Given the description of an element on the screen output the (x, y) to click on. 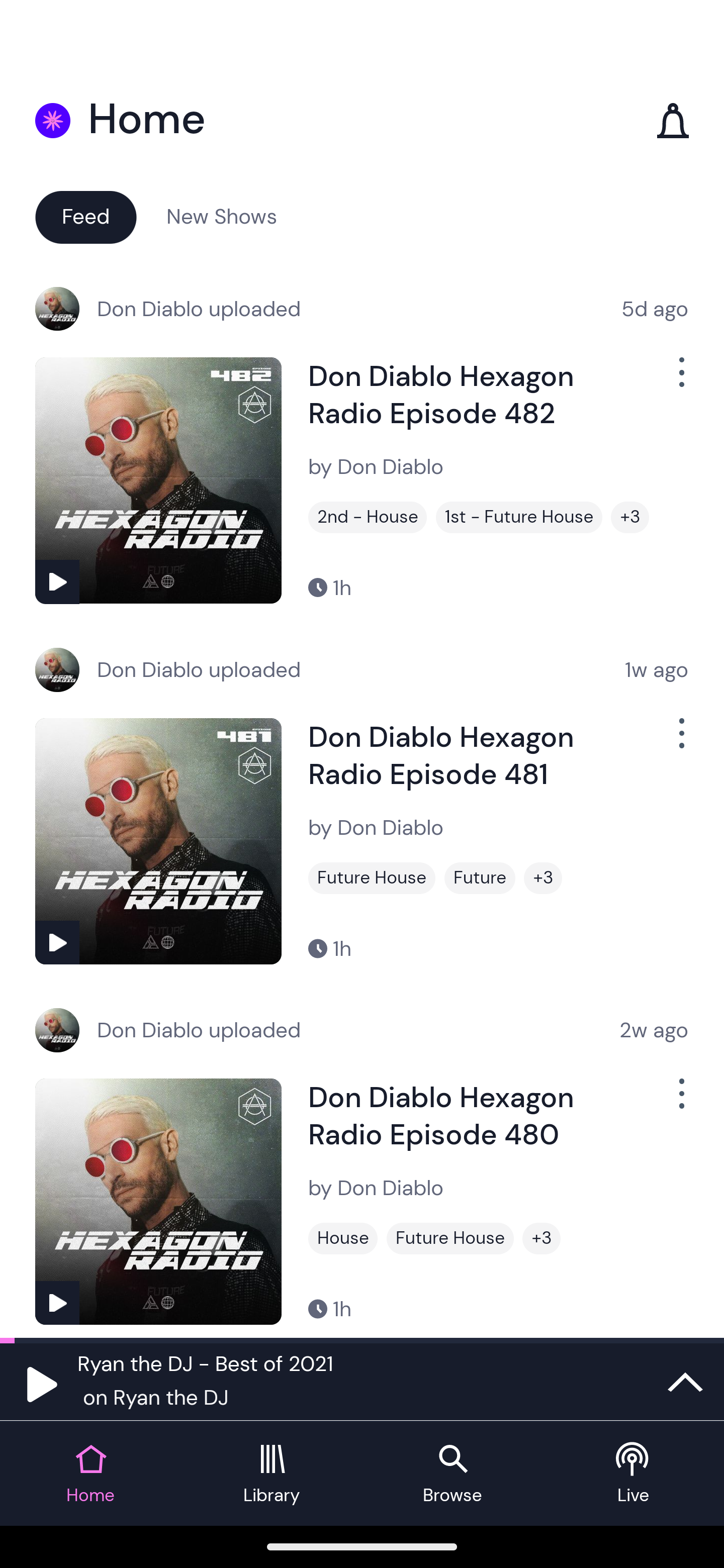
Feed (85, 216)
New Shows (221, 216)
Show Options Menu Button (679, 379)
2nd - House (367, 517)
1st - Future House (518, 517)
Show Options Menu Button (679, 740)
Future House (371, 877)
Future (479, 877)
Show Options Menu Button (679, 1101)
House (342, 1238)
Future House (450, 1238)
Home tab Home (90, 1473)
Library tab Library (271, 1473)
Browse tab Browse (452, 1473)
Live tab Live (633, 1473)
